Given the description of an element on the screen output the (x, y) to click on. 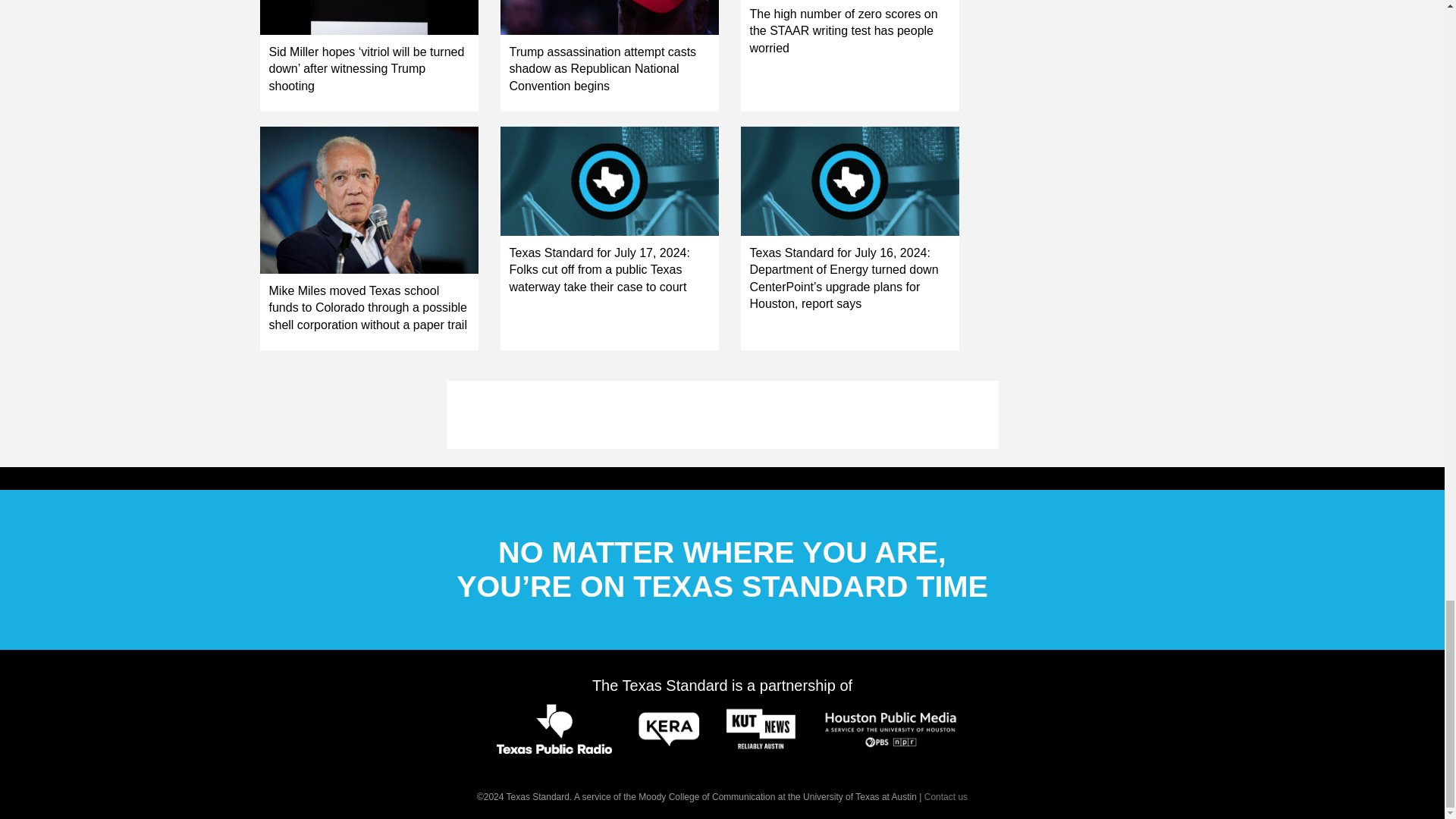
3rd party ad content (721, 414)
